Given the description of an element on the screen output the (x, y) to click on. 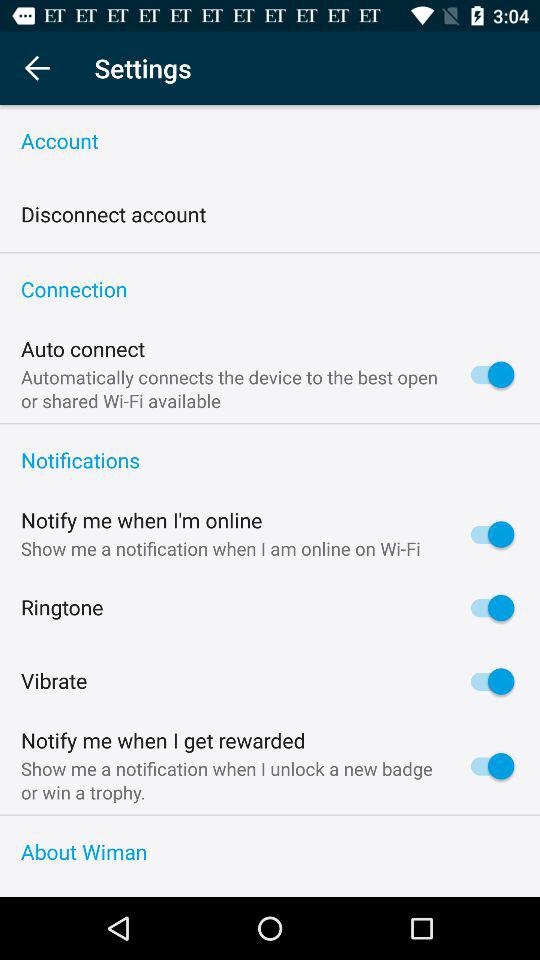
click the item below the disconnect account icon (270, 252)
